Given the description of an element on the screen output the (x, y) to click on. 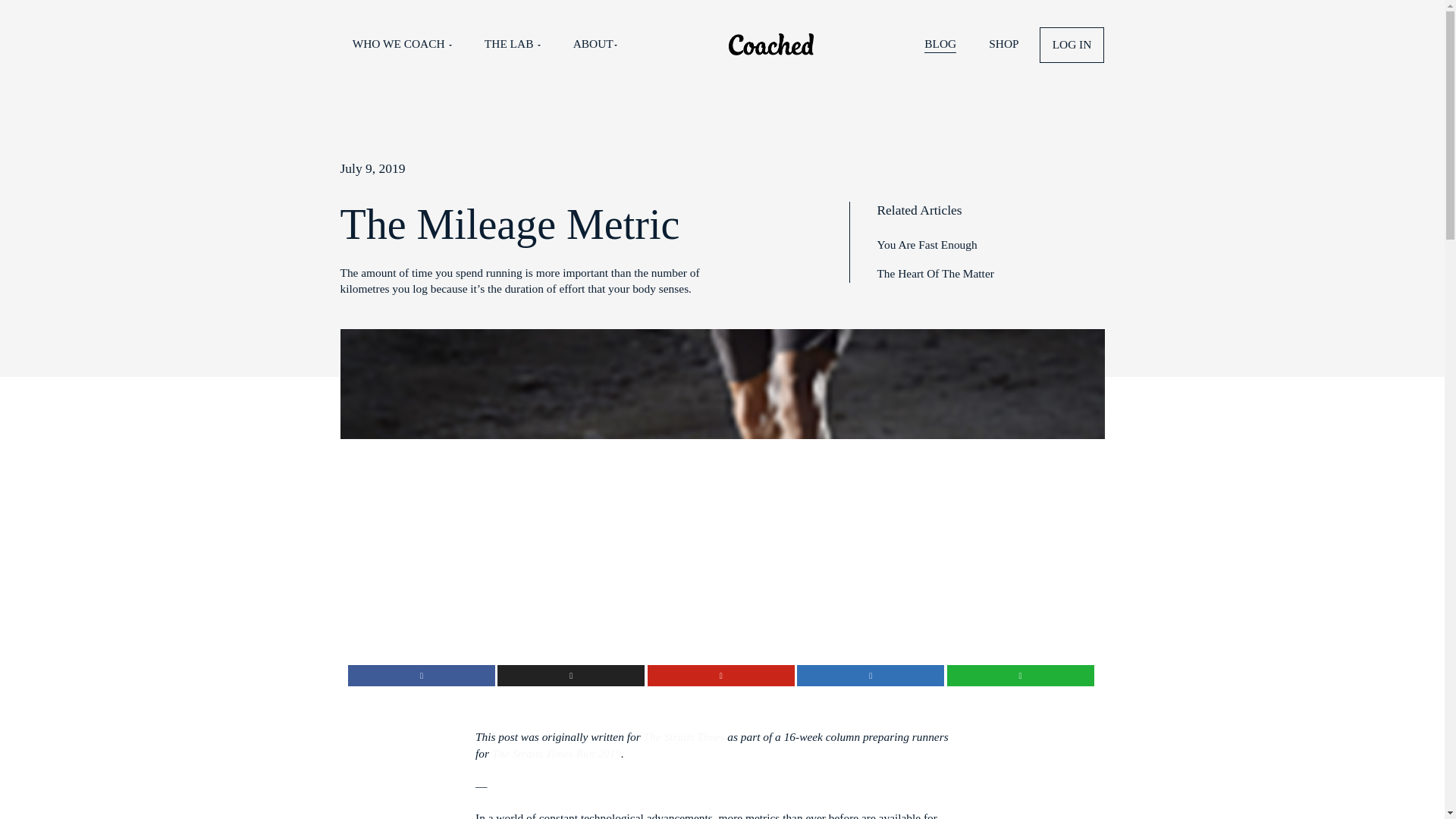
THE LAB (732, 62)
BLOG (1343, 65)
SHOP (1433, 62)
ABOUT (850, 62)
WHO WE COACH (574, 62)
You Are Fast Enough (1324, 348)
The Heart Of The Matter (1336, 390)
